Given the description of an element on the screen output the (x, y) to click on. 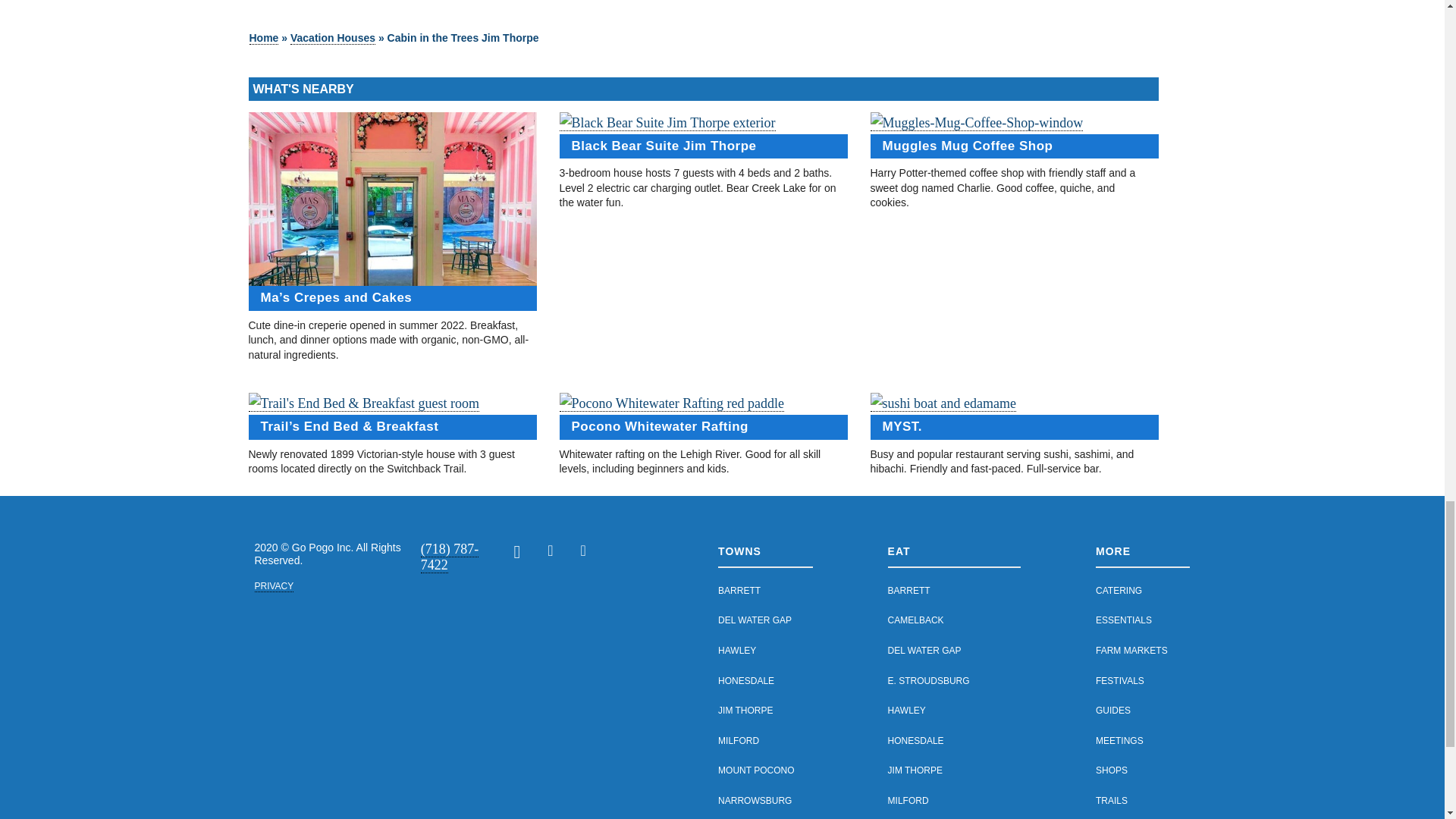
facebook (543, 551)
Instagram (576, 551)
The Villages of Barrett (738, 590)
Milford (737, 740)
Jim Thorpe (745, 710)
Delaware Water Gap (754, 620)
Hawley (736, 650)
Mail Link (520, 553)
Honesdale (745, 680)
